Given the description of an element on the screen output the (x, y) to click on. 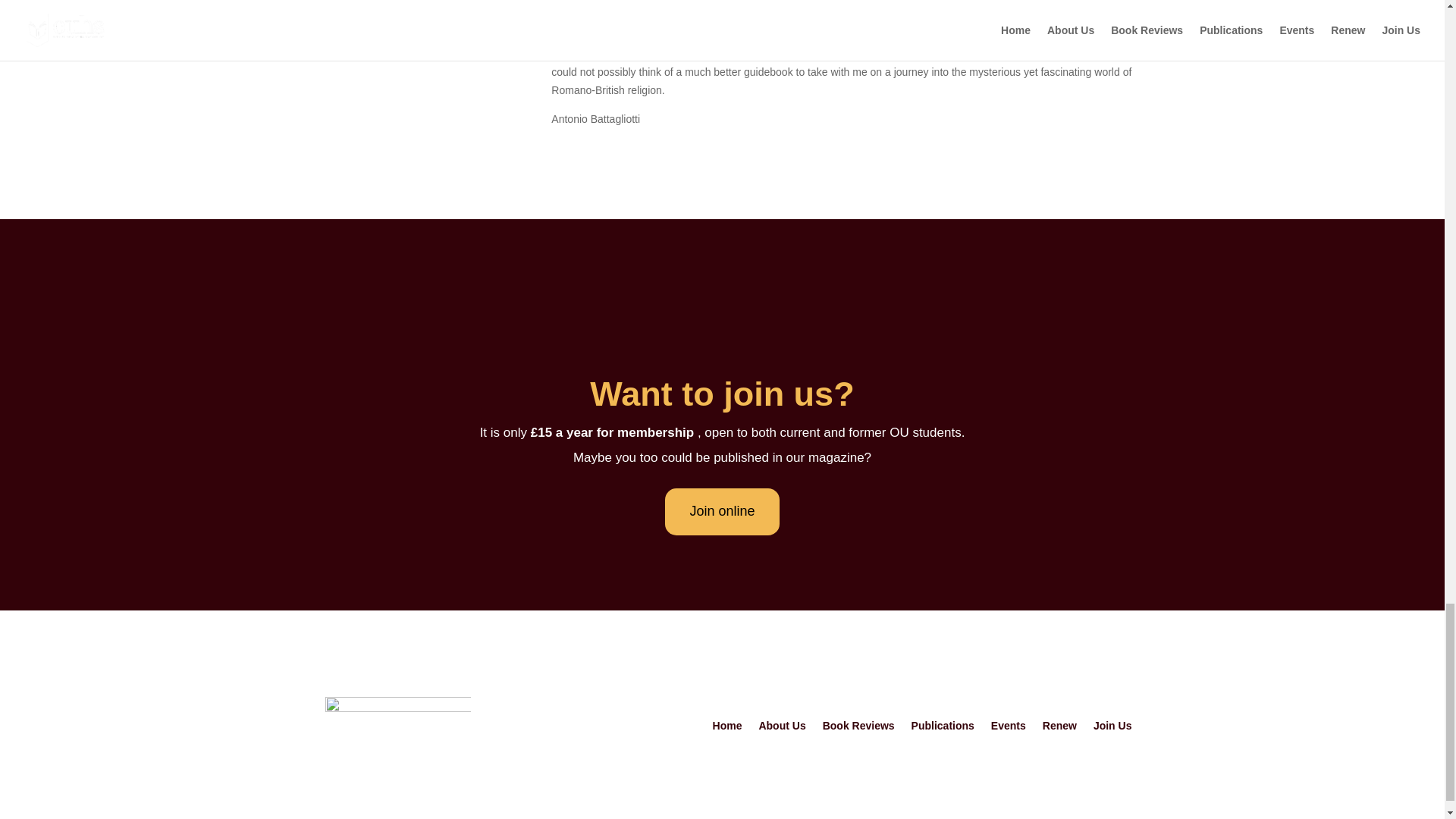
Renew (1059, 728)
Join Us (1112, 728)
Book Reviews (858, 728)
ouhs-logo-red (397, 728)
Publications (942, 728)
Events (1008, 728)
Join online (721, 512)
About Us (781, 728)
Home (727, 728)
